Given the description of an element on the screen output the (x, y) to click on. 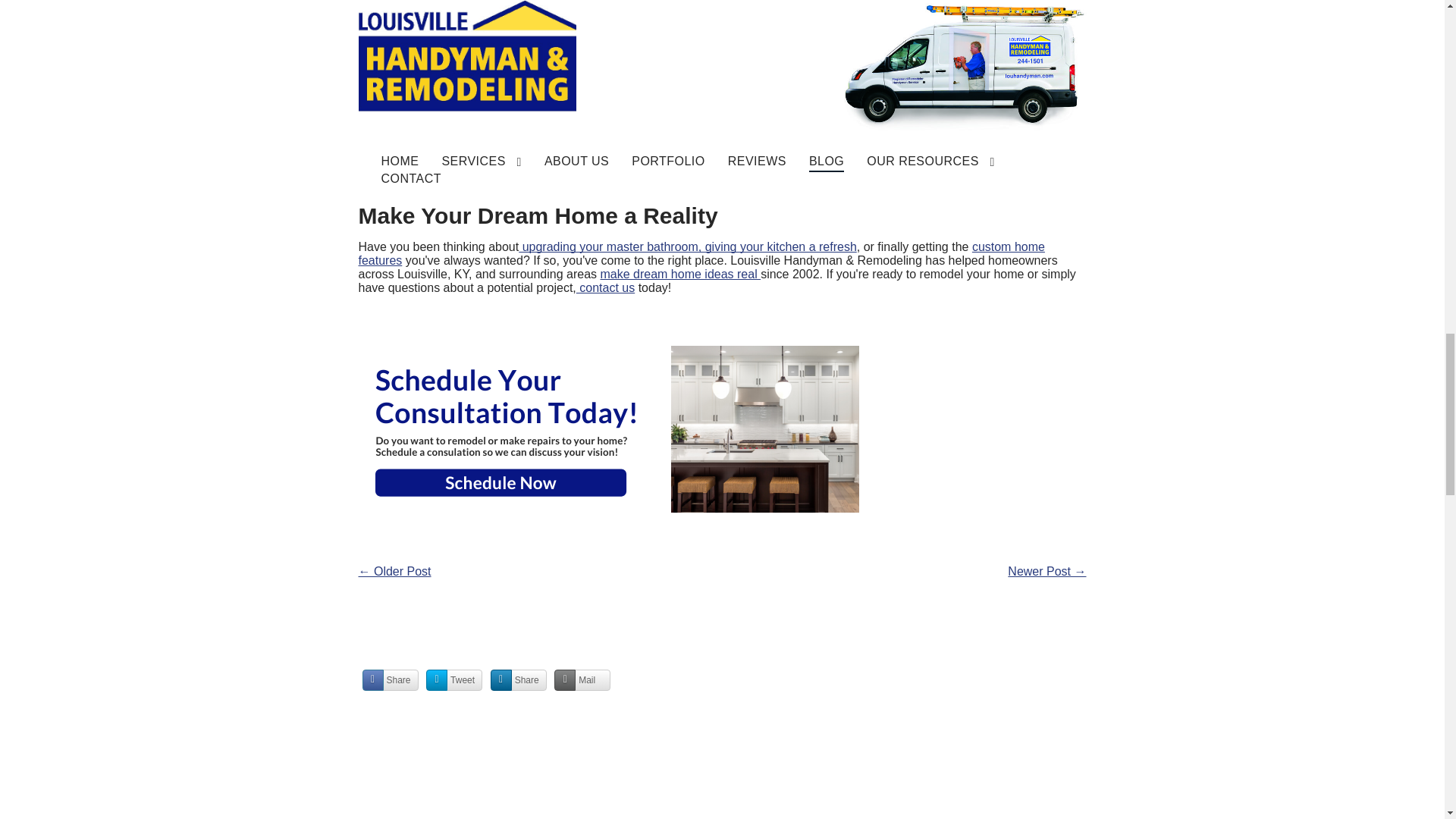
Share to Facebook (390, 680)
Share to Twitter (453, 680)
custom home features (700, 253)
Share (390, 680)
 contact us (605, 287)
Email (582, 680)
Tweet (453, 680)
Share to LinkedIn (518, 680)
make dream home ideas real  (680, 273)
